Given the description of an element on the screen output the (x, y) to click on. 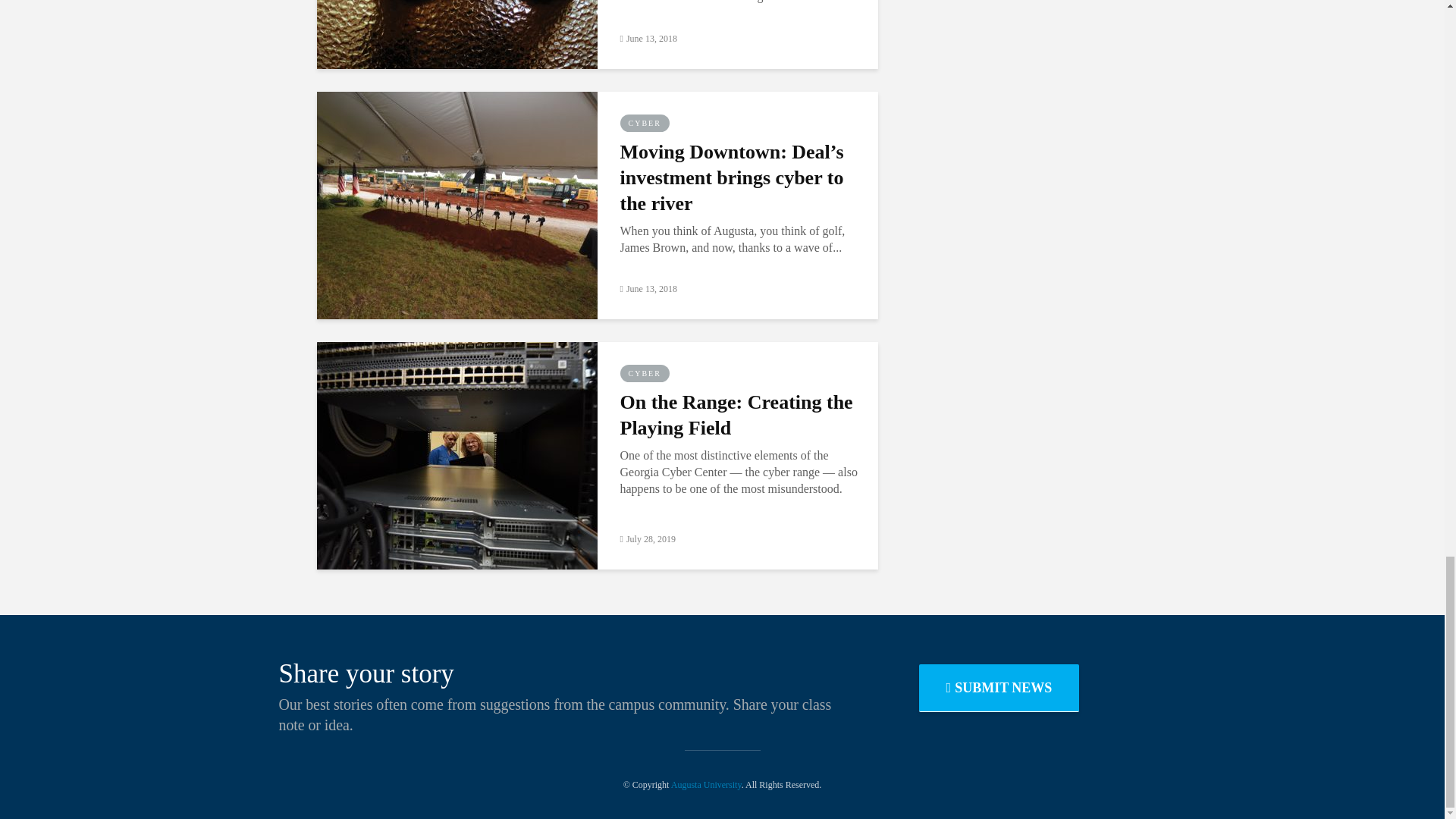
On the Range: Creating the Playing Field (456, 453)
